Given the description of an element on the screen output the (x, y) to click on. 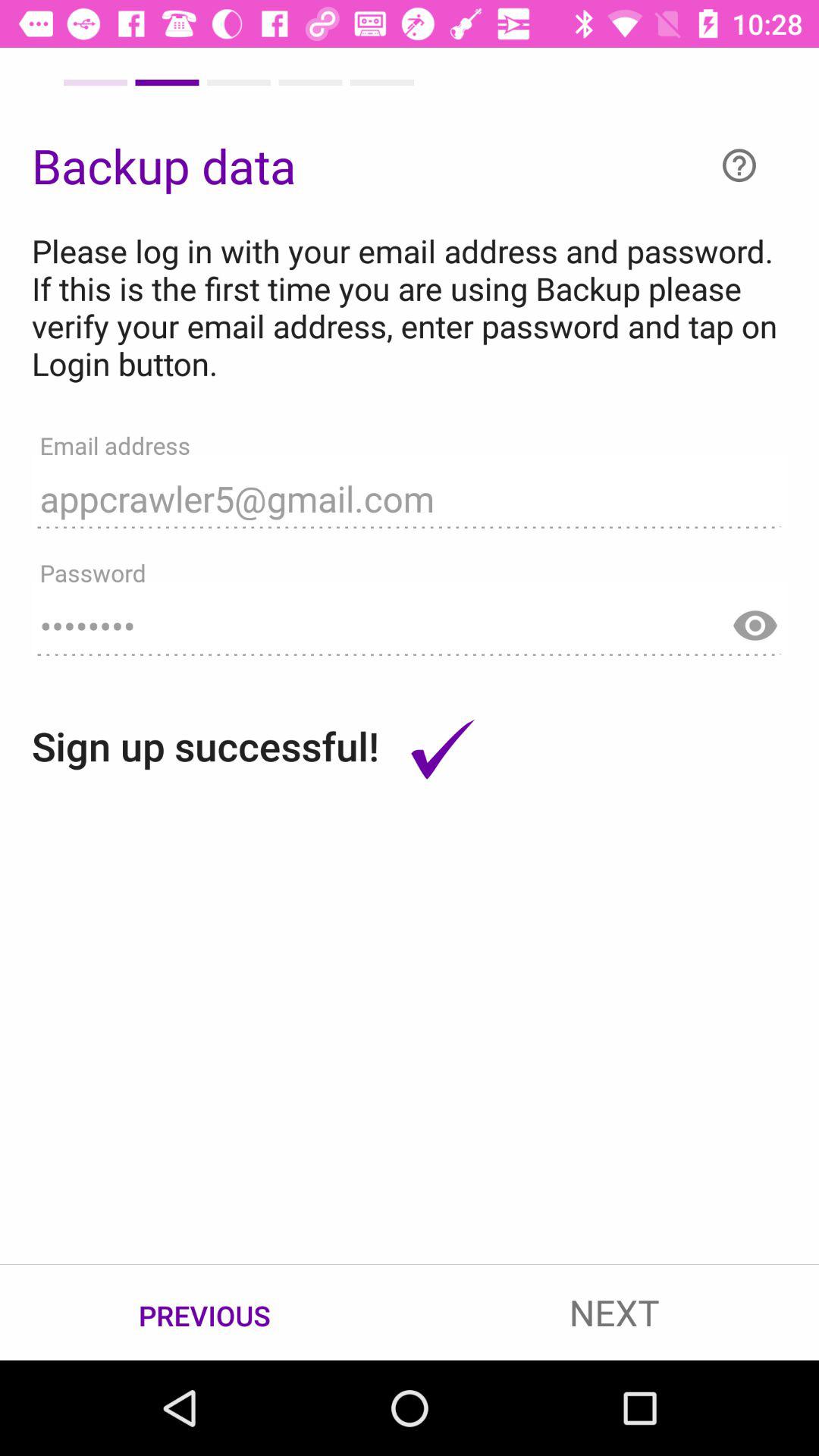
open item to the left of next (204, 1313)
